Given the description of an element on the screen output the (x, y) to click on. 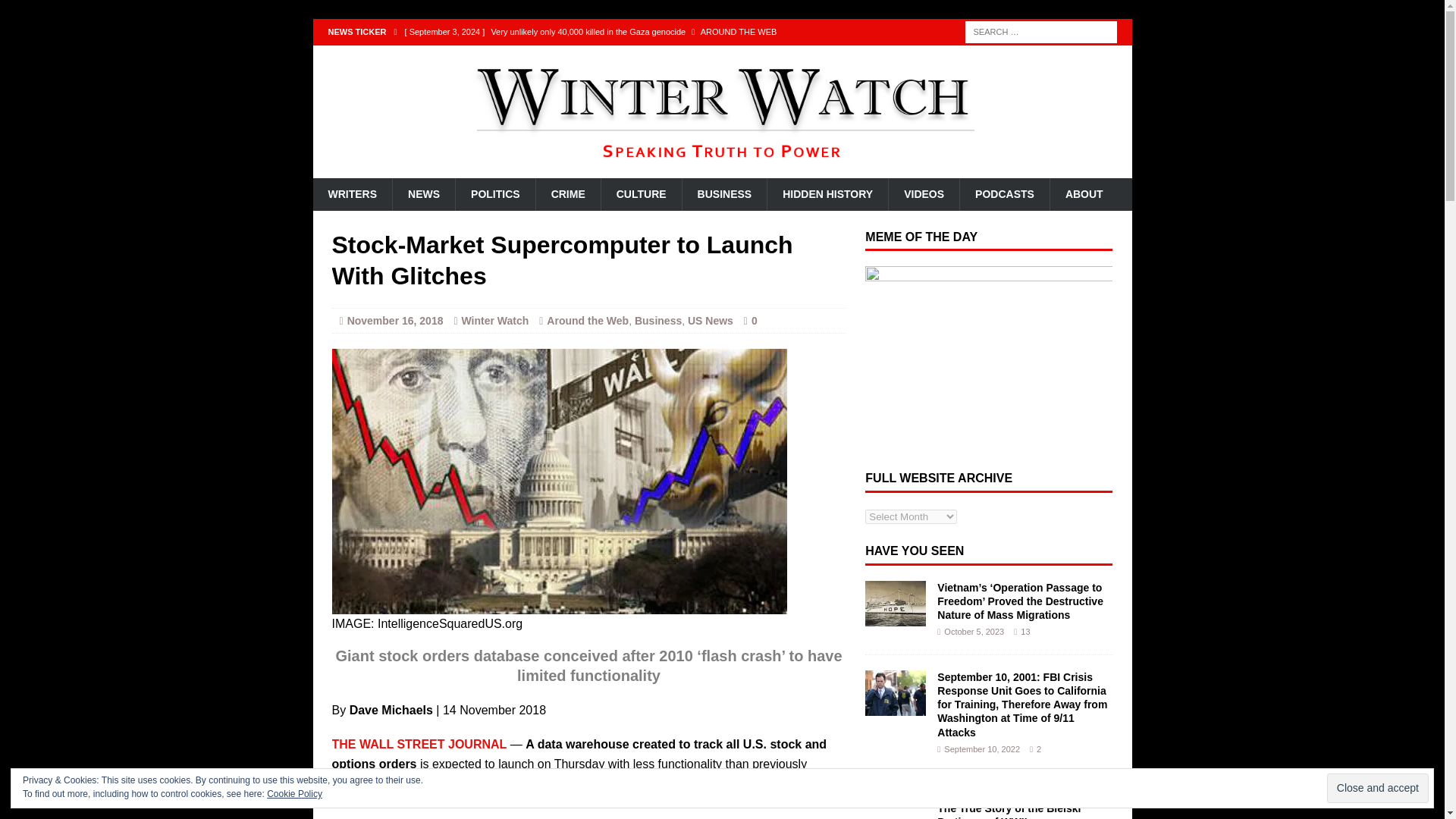
BUSINESS (724, 193)
Very unlikely only 40,000 killed in the Gaza genocide (627, 31)
CRIME (567, 193)
ABOUT (1083, 193)
Around the Web (587, 320)
WRITERS (352, 193)
HIDDEN HISTORY (827, 193)
Search (37, 11)
POLITICS (494, 193)
Biden Admits US is Running Out of Ammo (627, 57)
